Given the description of an element on the screen output the (x, y) to click on. 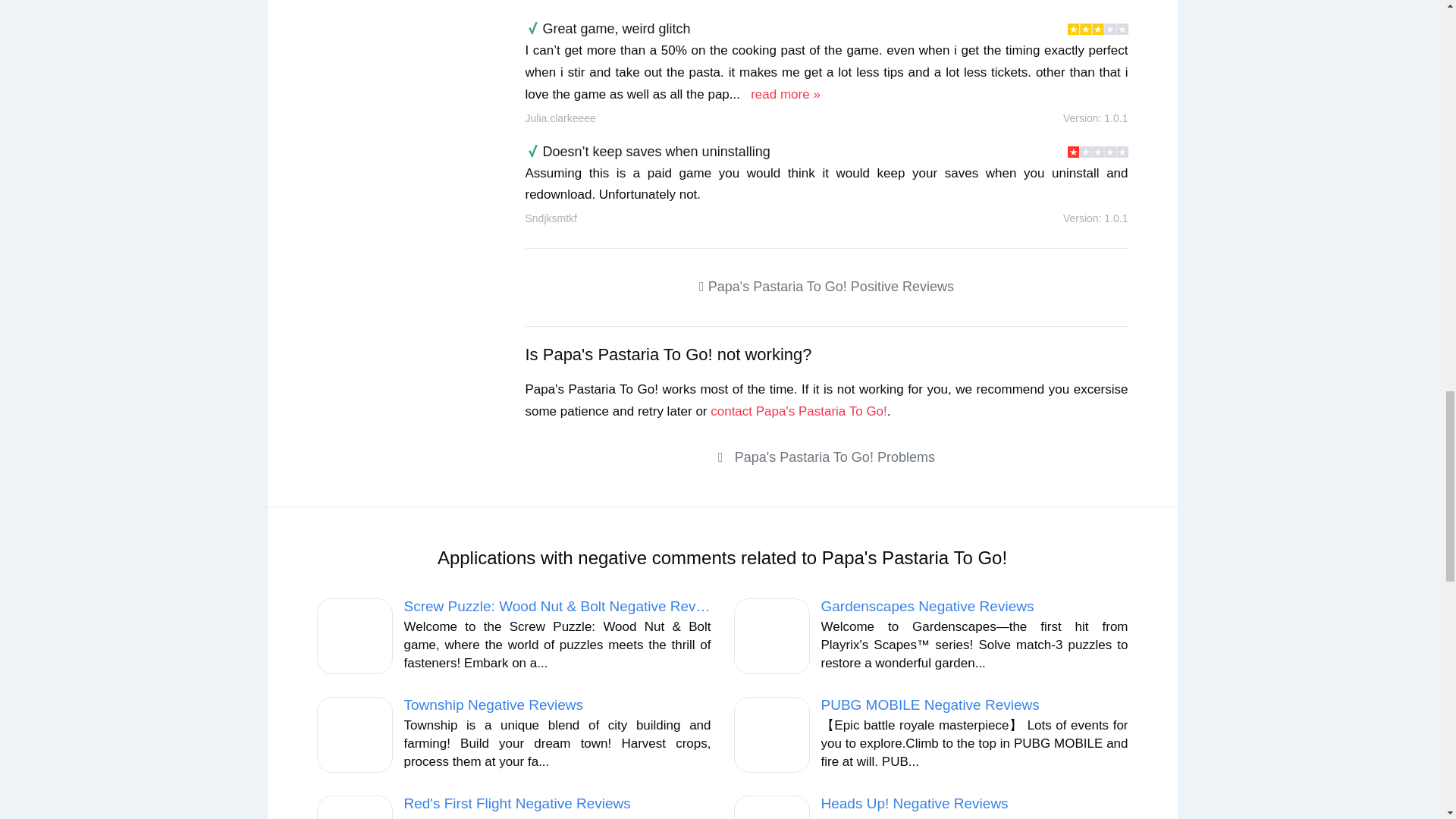
Papa's Pastaria To Go! App Contact Informations (798, 411)
PUBG MOBILE Negative Reviews (930, 704)
contact Papa's Pastaria To Go! (798, 411)
Gardenscapes Negative Reviews (927, 606)
Heads Up! Negative Reviews (914, 803)
Red's First Flight Negative Reviews (516, 803)
Township Negative Reviews (493, 704)
Papa's Pastaria To Go! Positive Reviews (825, 287)
